Given the description of an element on the screen output the (x, y) to click on. 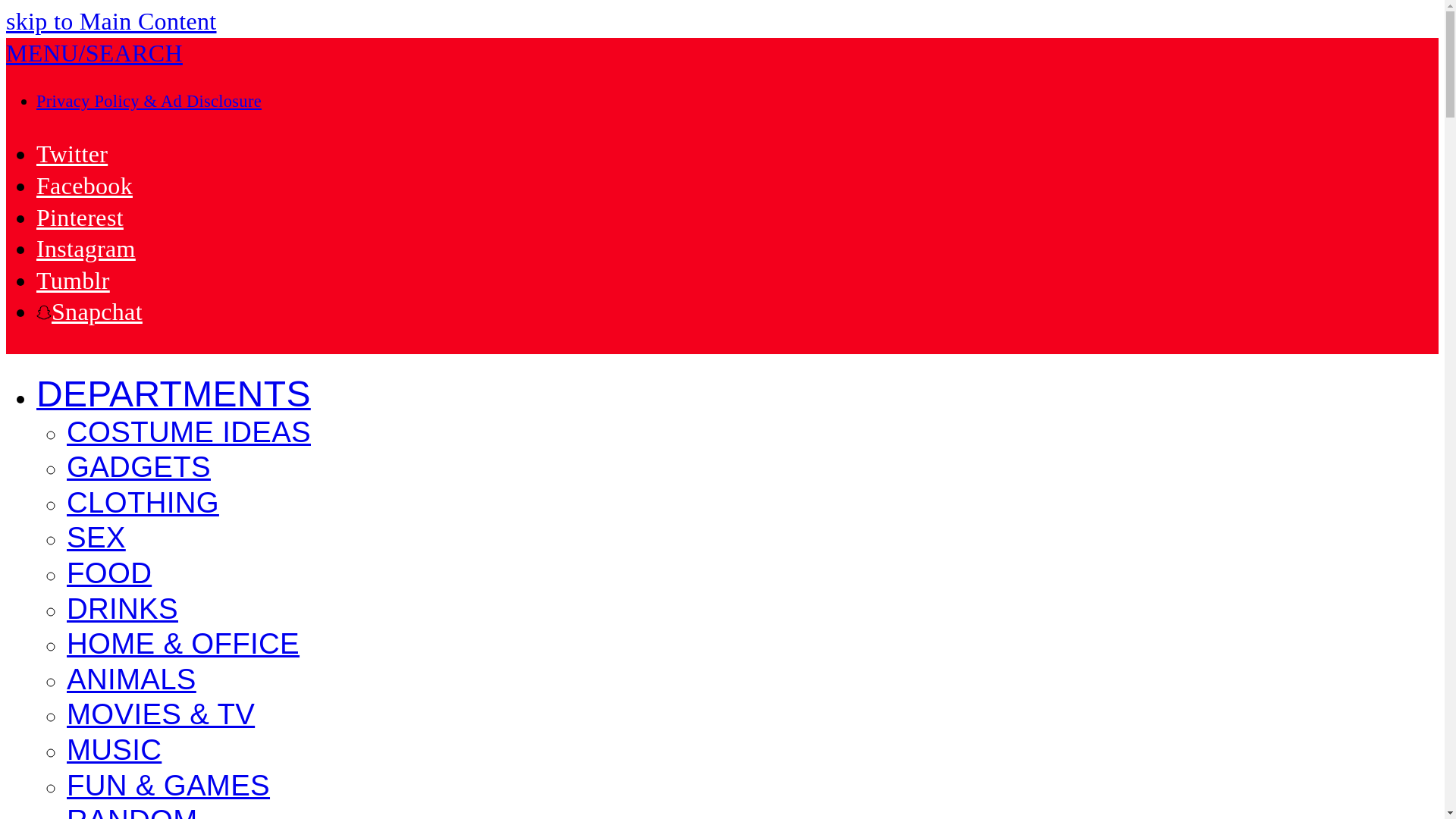
COSTUME IDEAS (188, 433)
Twitter (71, 153)
Instagram (85, 248)
Pinterest (79, 216)
Snapchat (89, 311)
Twitter (71, 153)
GADGETS (138, 468)
Instagram (85, 248)
Tumblr (73, 280)
FOOD (108, 574)
ANIMALS (131, 680)
SEX (95, 538)
skip to Main Content (110, 21)
Facebook (84, 185)
DRINKS (121, 610)
